Given the description of an element on the screen output the (x, y) to click on. 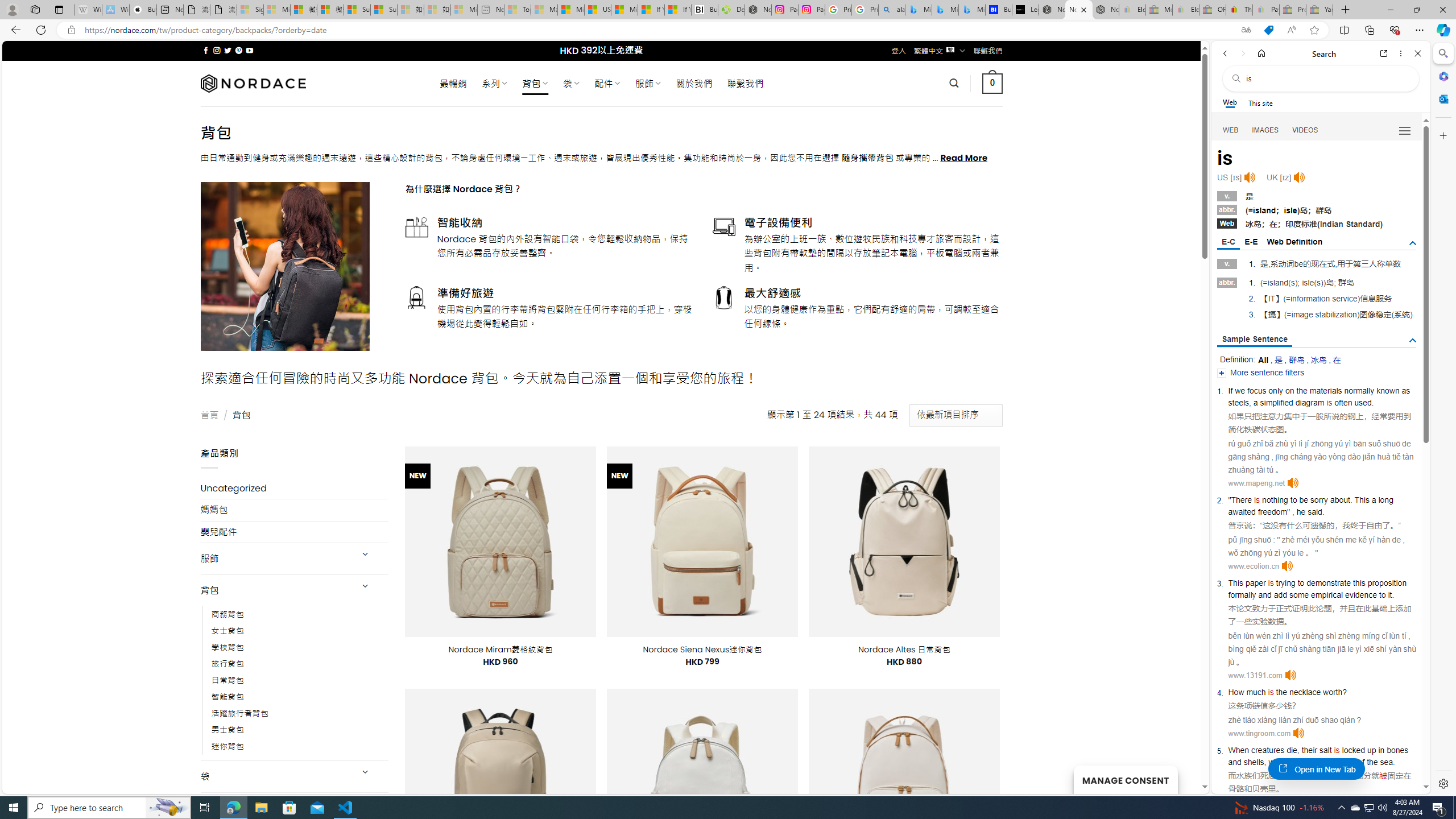
and (1234, 761)
AutomationID: tgdef (1412, 242)
only (1276, 390)
